Given the description of an element on the screen output the (x, y) to click on. 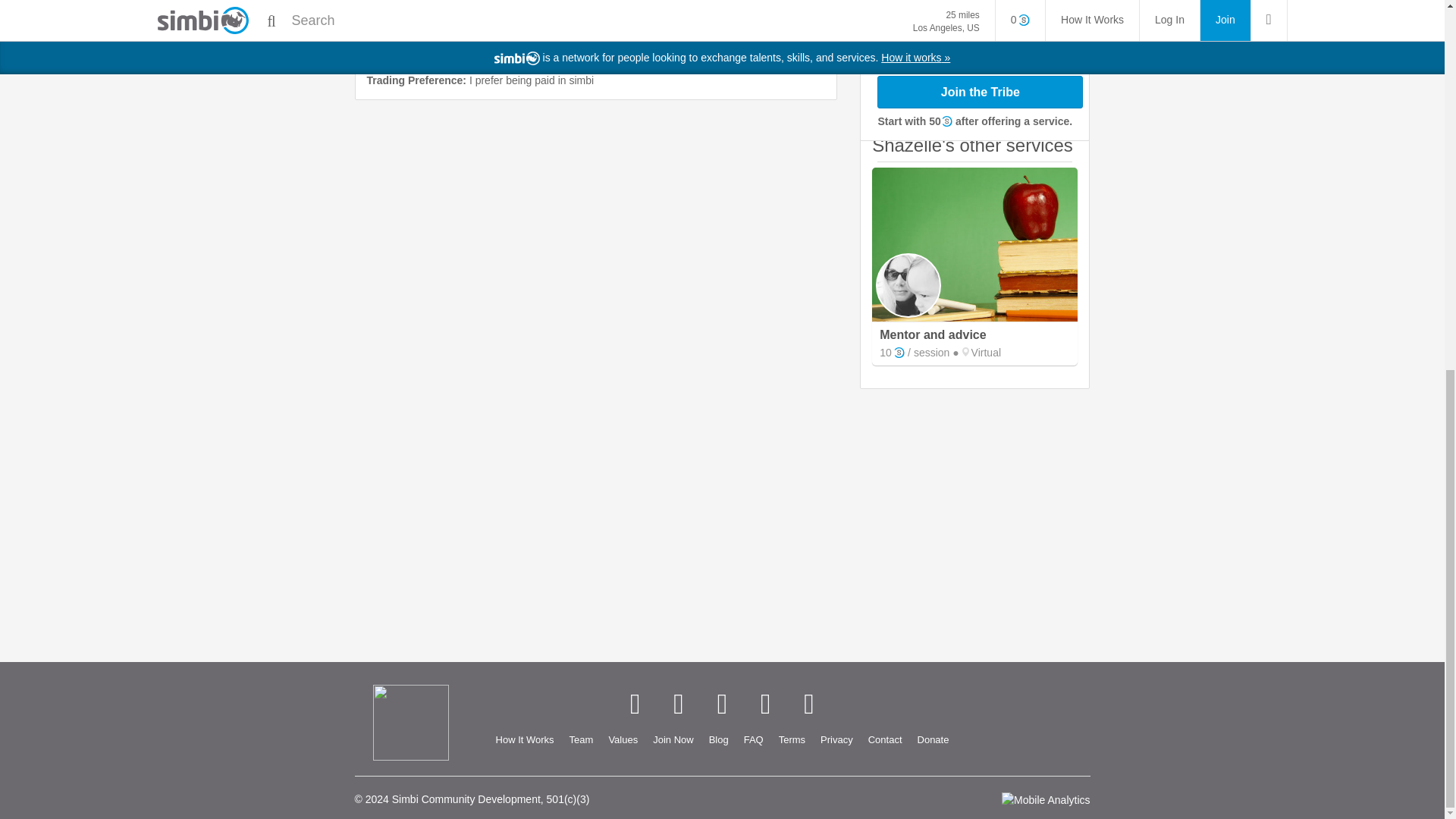
Contact (885, 740)
Facebook (634, 704)
Donate (933, 740)
Email (808, 704)
Linkedin (722, 704)
Twitter (678, 704)
Terms (791, 740)
How it works (524, 740)
Blog (718, 740)
Instagram (765, 704)
Join (672, 740)
Privacy (836, 740)
Values (622, 740)
Team (581, 740)
FAQ (753, 740)
